Given the description of an element on the screen output the (x, y) to click on. 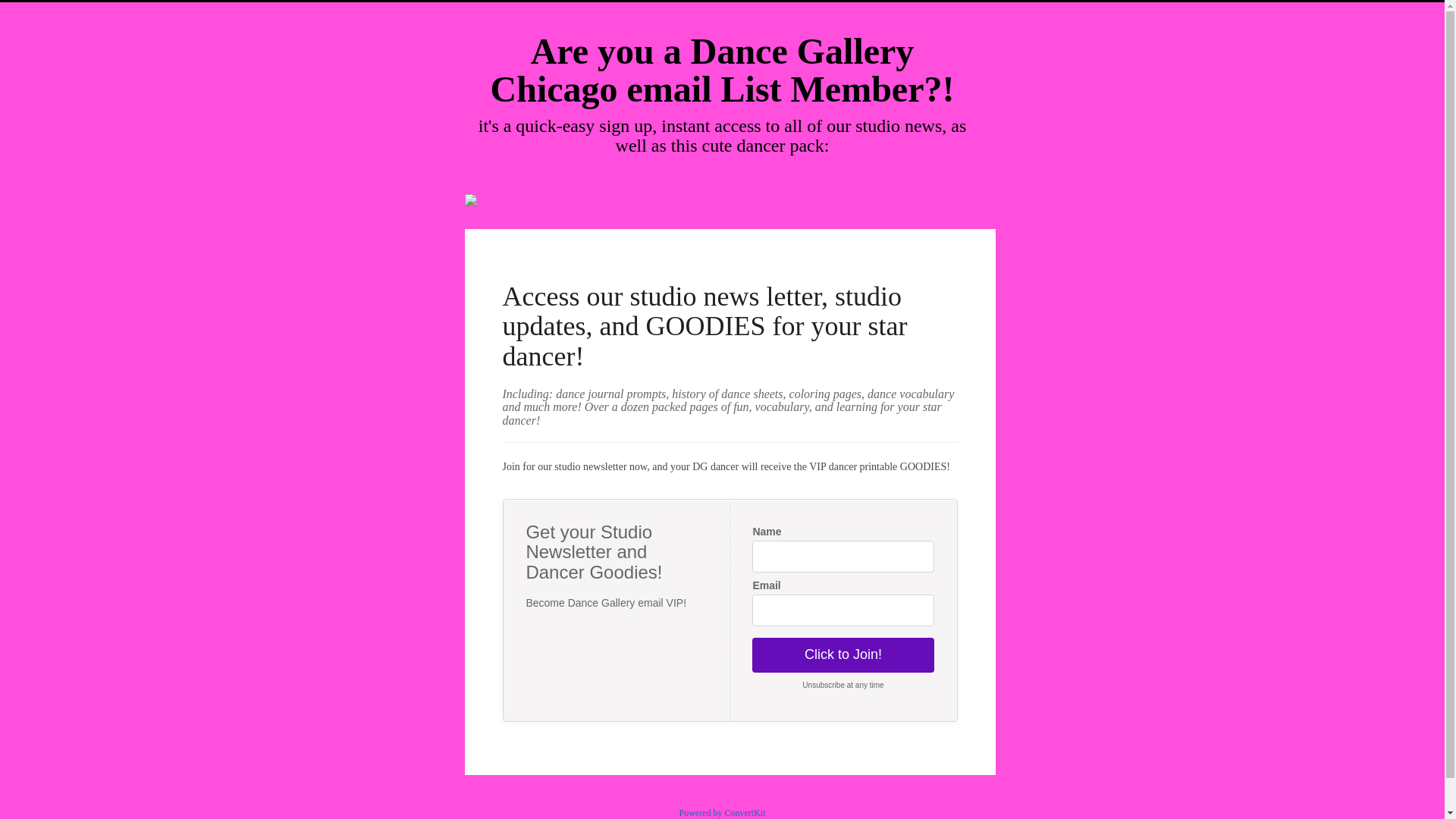
Powered by ConvertKit (722, 812)
Click to Join! (842, 655)
